Given the description of an element on the screen output the (x, y) to click on. 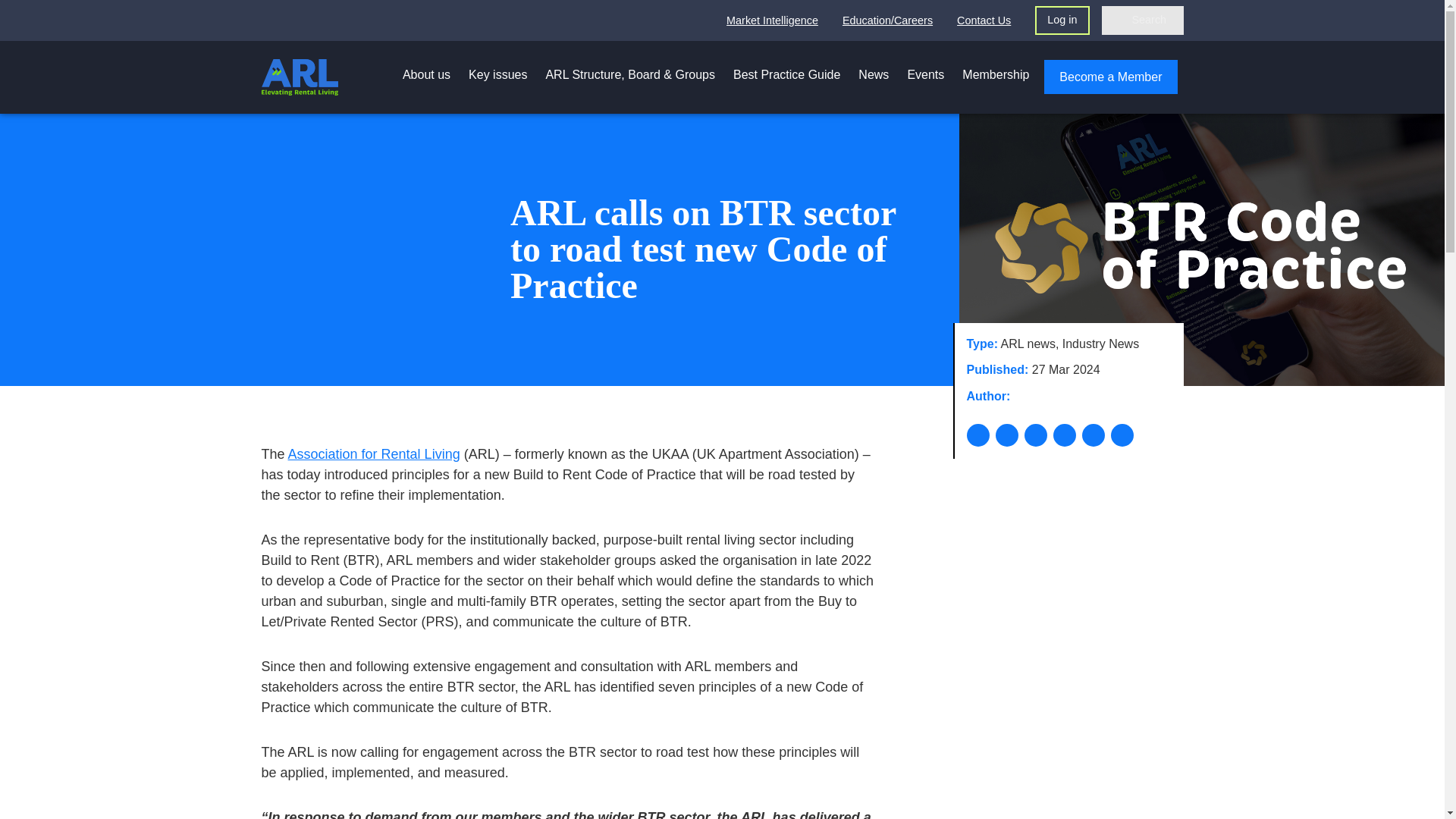
Log in (1062, 20)
Key issues (497, 74)
Search submit (1116, 20)
Market Intelligence (772, 20)
Contact Us (983, 20)
About us (426, 74)
The Association for Rental Living (298, 76)
